Given the description of an element on the screen output the (x, y) to click on. 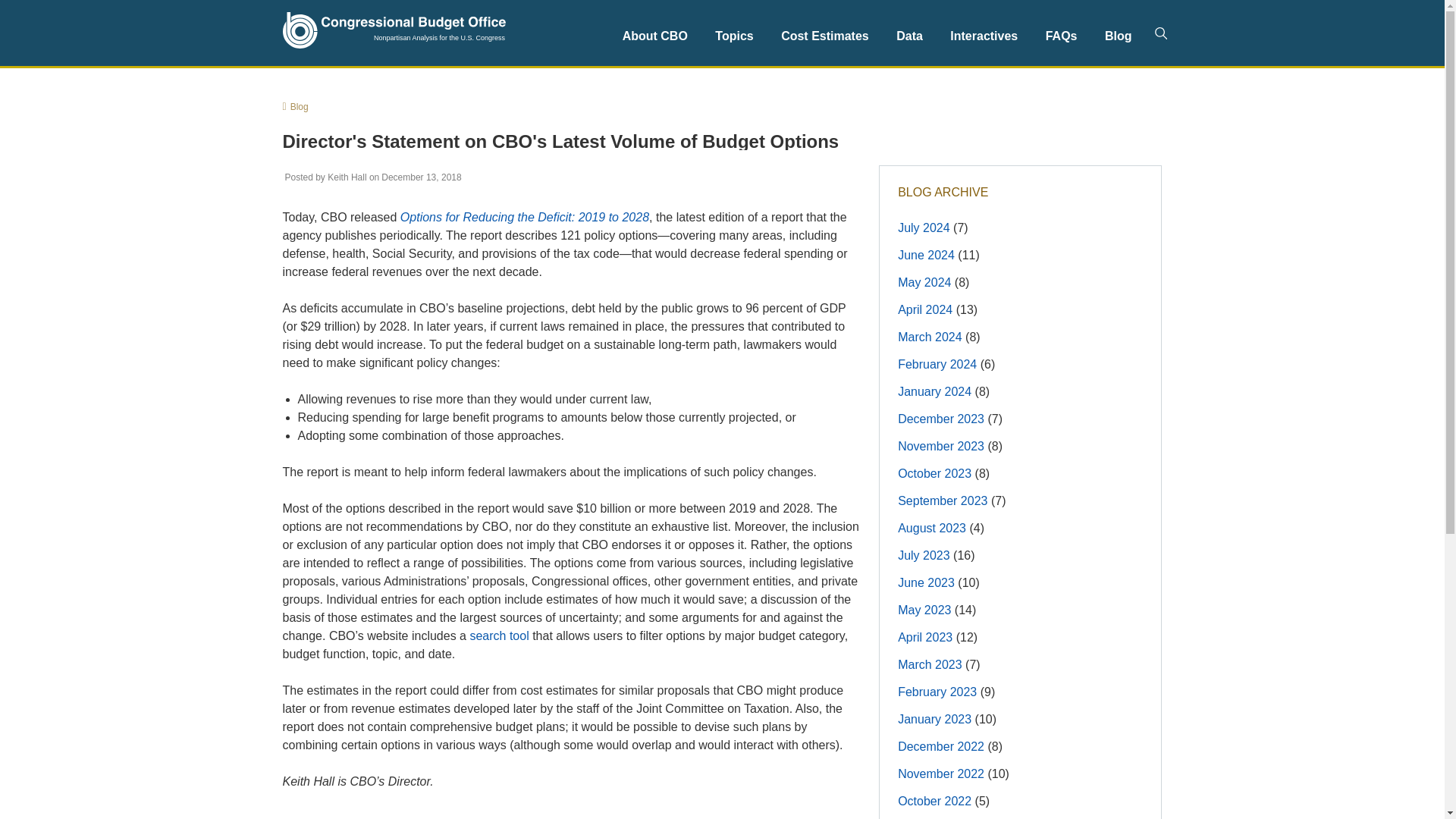
March 2024 (930, 336)
February 2023 (937, 691)
April 2023 (925, 636)
Search (1160, 33)
April 2024 (925, 309)
Blog (1118, 36)
November 2022 (941, 773)
Interactives (983, 36)
Data (908, 36)
October 2022 (934, 800)
December 2022 (941, 746)
About CBO (655, 36)
Congressional Budget Office Home (394, 30)
search tool (498, 635)
Cost Estimates (824, 36)
